Given the description of an element on the screen output the (x, y) to click on. 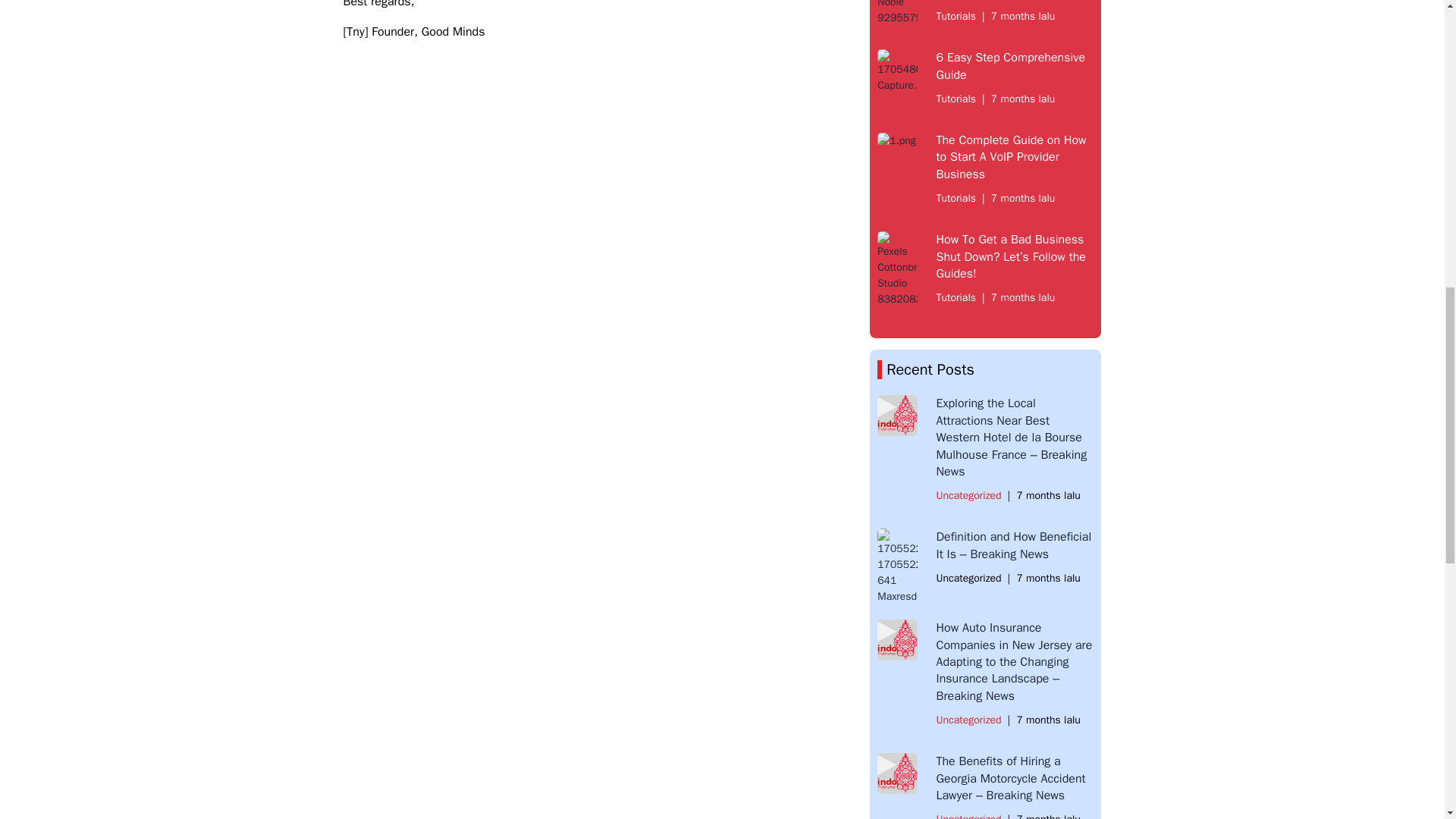
Continue reading 6 Easy Step Comprehensive Guide (897, 70)
Continue reading 6 Easy Step Comprehensive Guide (1010, 65)
